Given the description of an element on the screen output the (x, y) to click on. 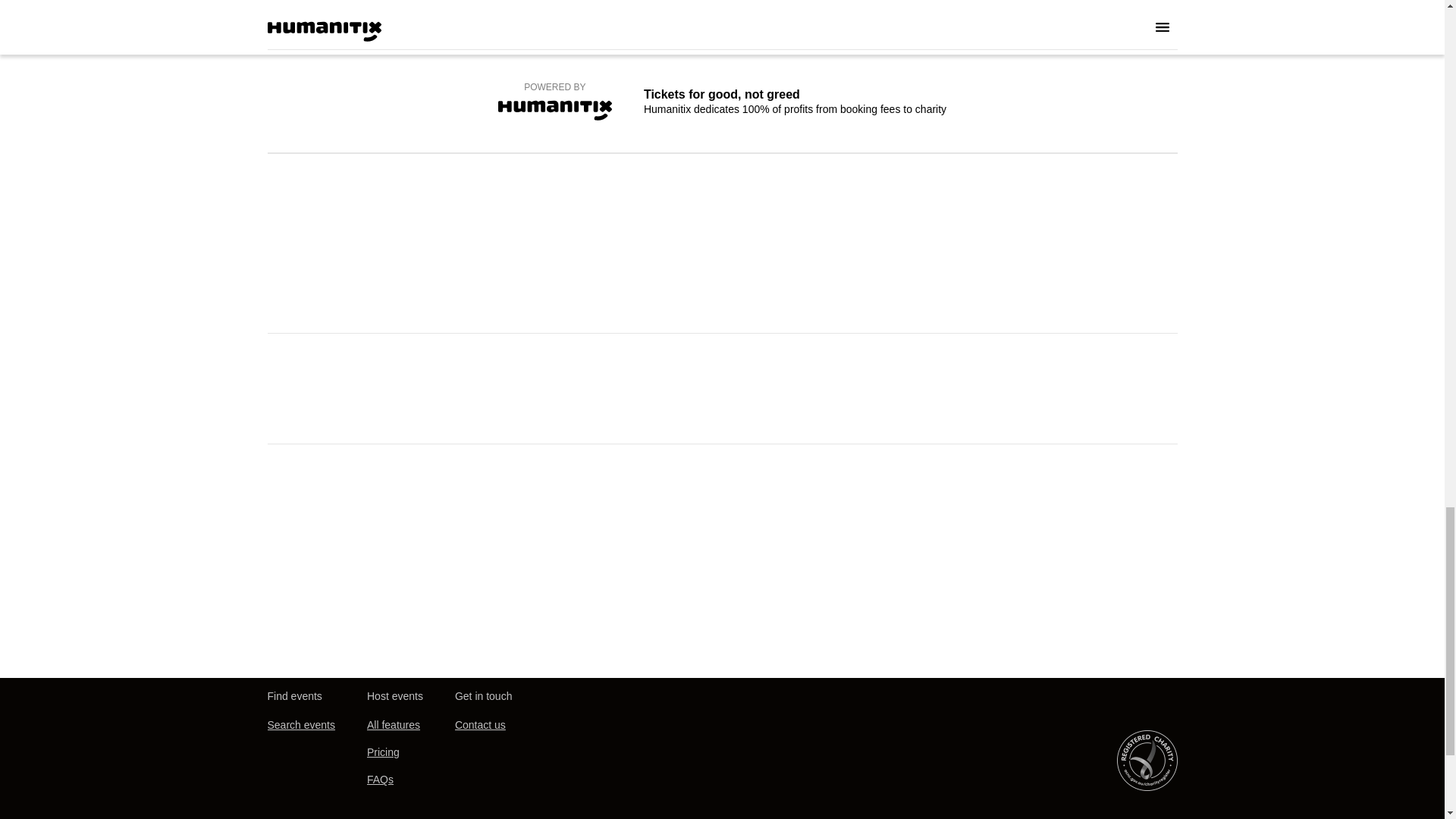
Contact us (479, 725)
All features (393, 725)
Search events (300, 725)
Pricing (382, 752)
FAQs (379, 779)
